Given the description of an element on the screen output the (x, y) to click on. 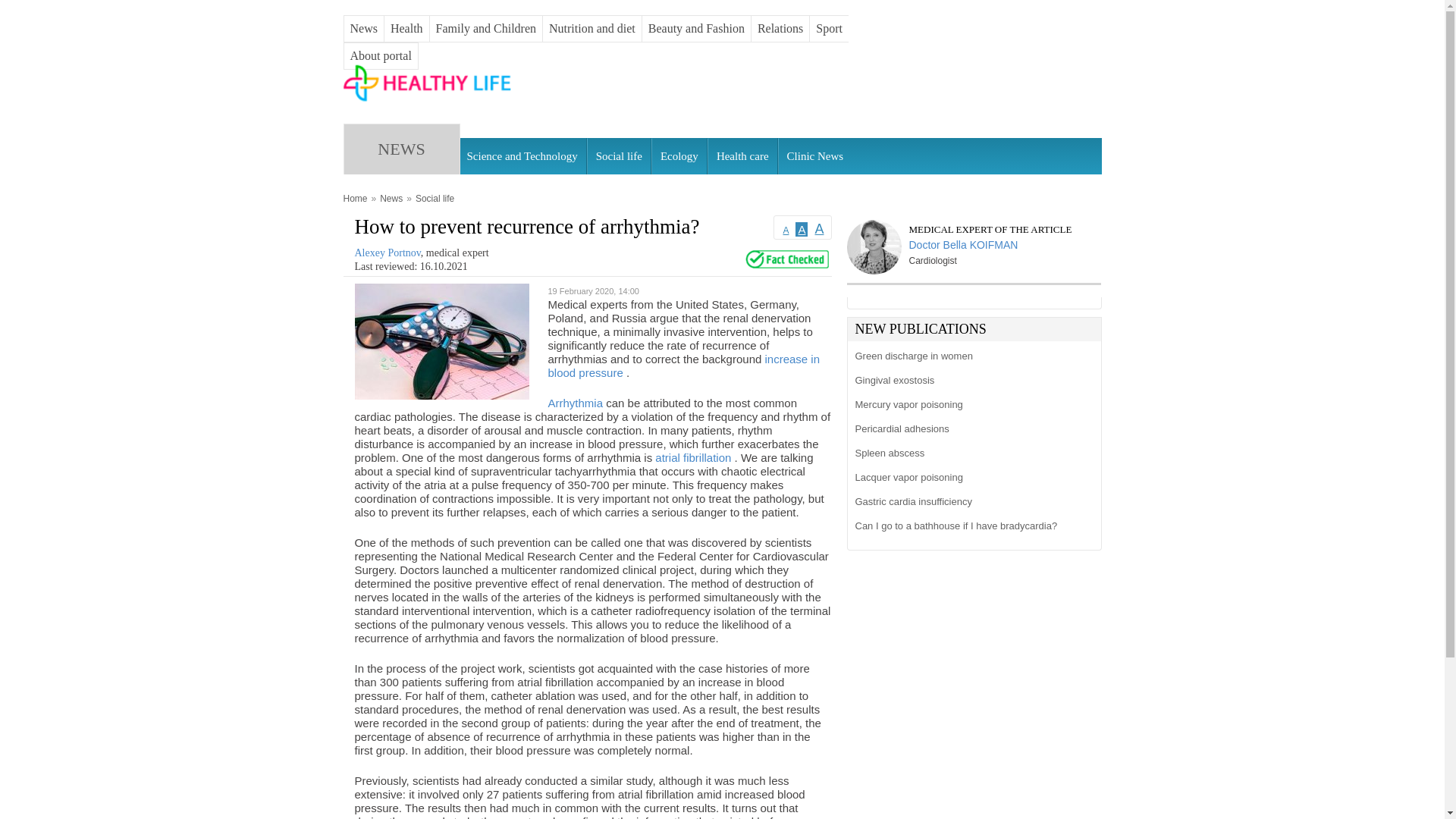
Spleen abscess (971, 454)
Health care (742, 156)
News (363, 28)
Beauty and Fashion (695, 28)
Doctor Bella KOIFMAN (972, 242)
News (391, 198)
Science and Technology (521, 156)
Home (427, 101)
Social life (619, 156)
Gingival exostosis (971, 381)
Social life (434, 198)
Nutrition and diet (591, 28)
